Given the description of an element on the screen output the (x, y) to click on. 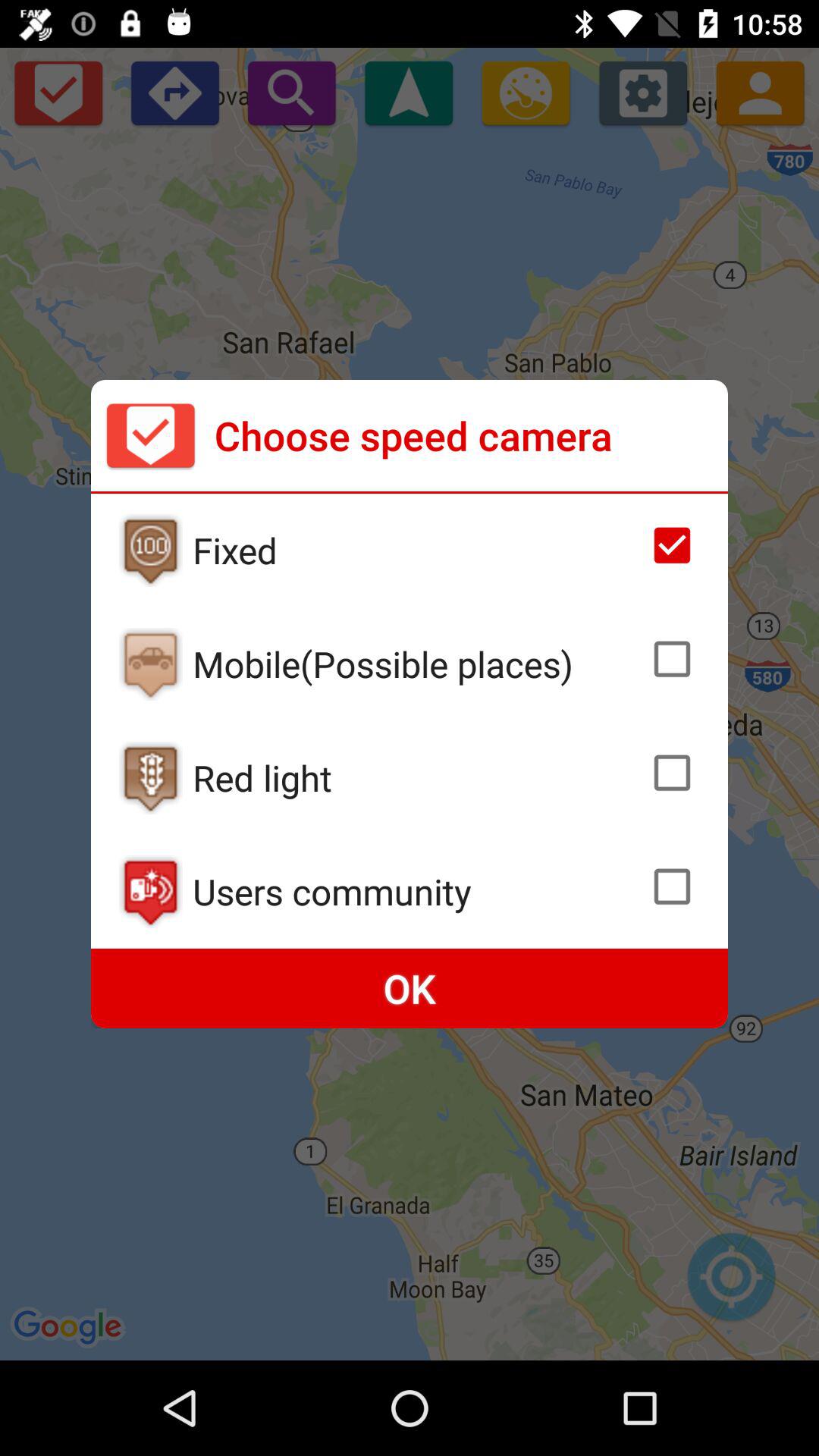
tap to view briefly (150, 550)
